Given the description of an element on the screen output the (x, y) to click on. 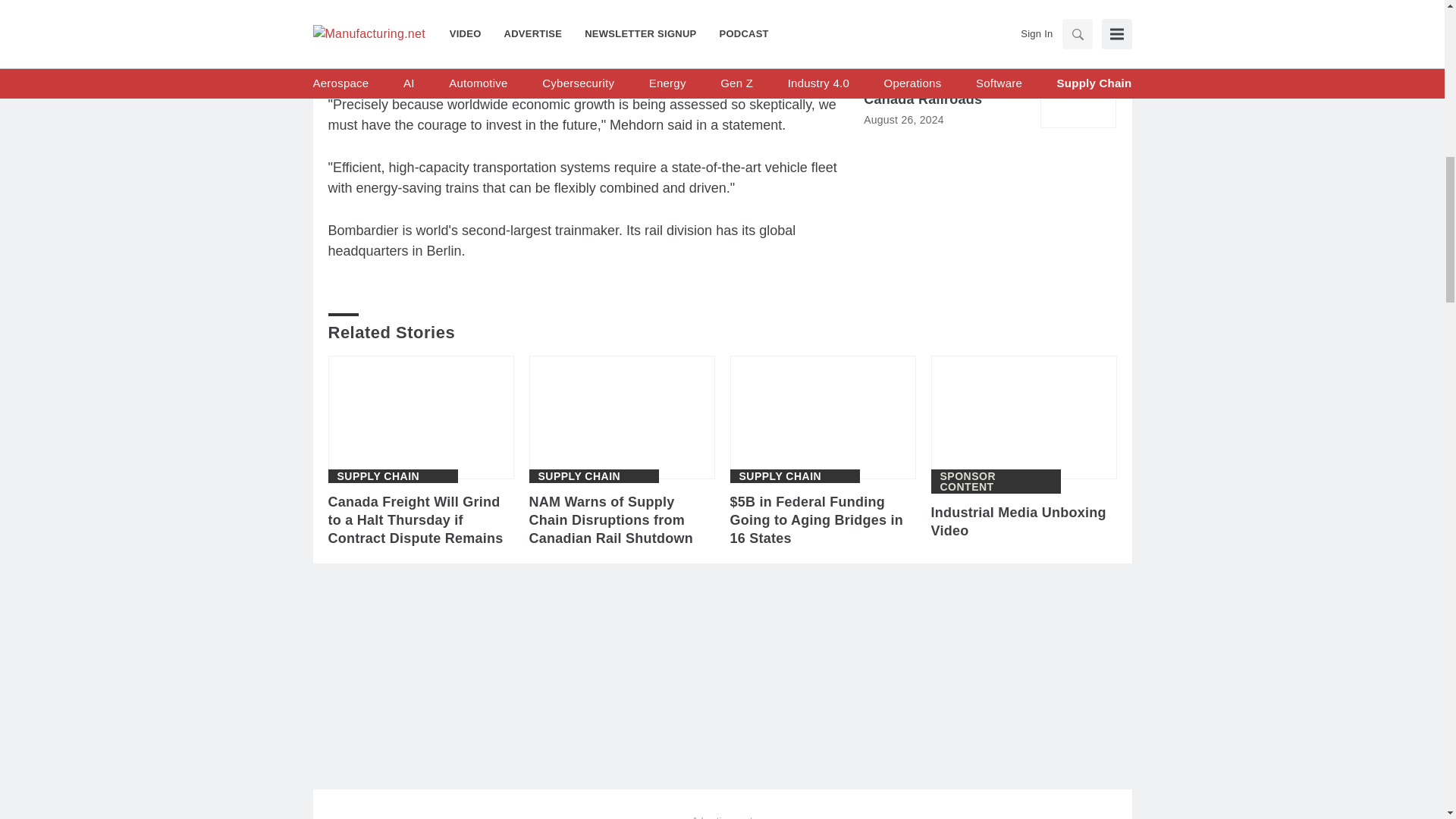
Supply Chain (579, 475)
Supply Chain (377, 475)
Supply Chain (779, 475)
Sponsor Content (996, 481)
